Given the description of an element on the screen output the (x, y) to click on. 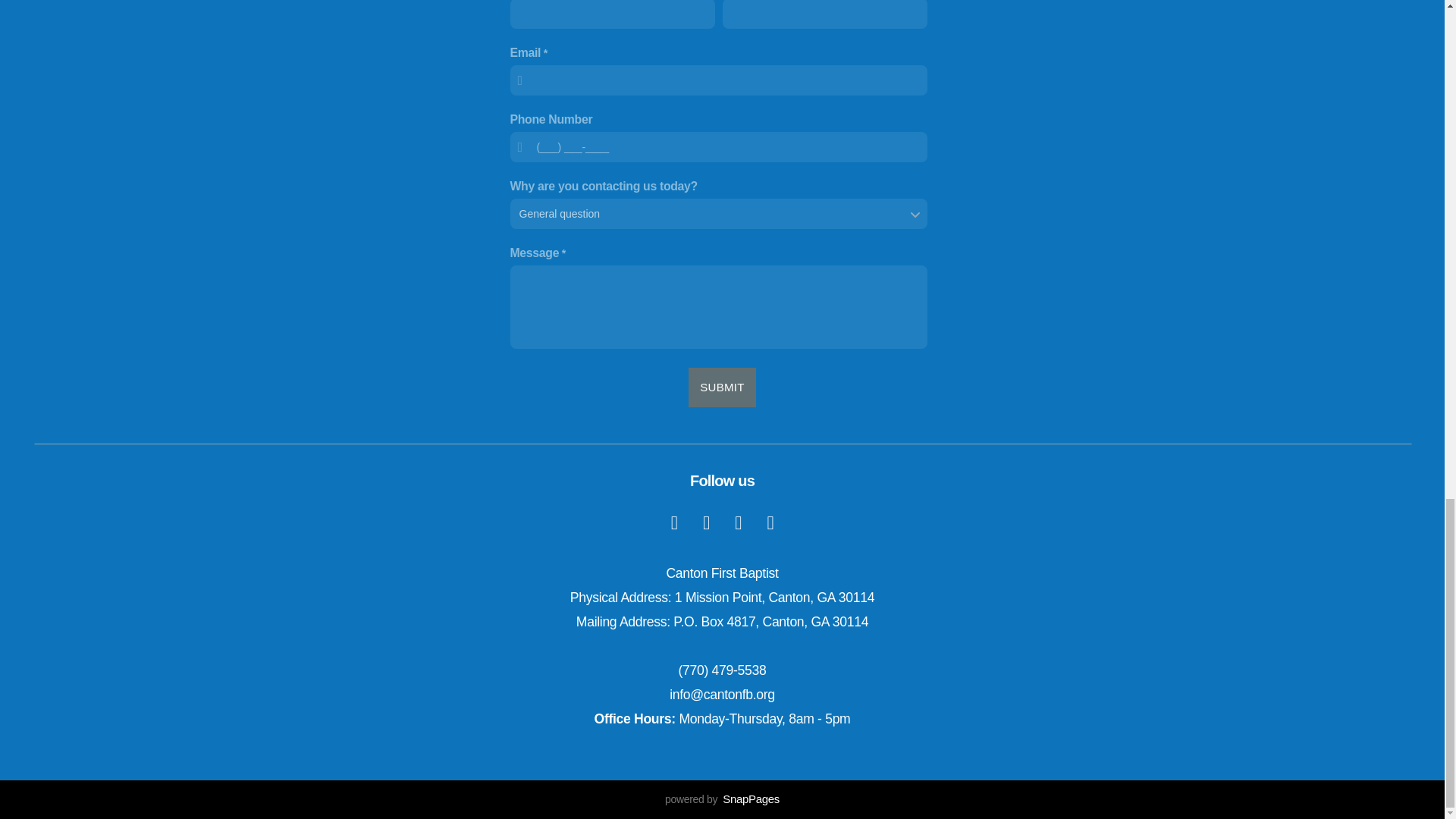
powered by SnapPages Website Builder (721, 799)
powered by  SnapPages (721, 799)
SUBMIT (721, 387)
